Given the description of an element on the screen output the (x, y) to click on. 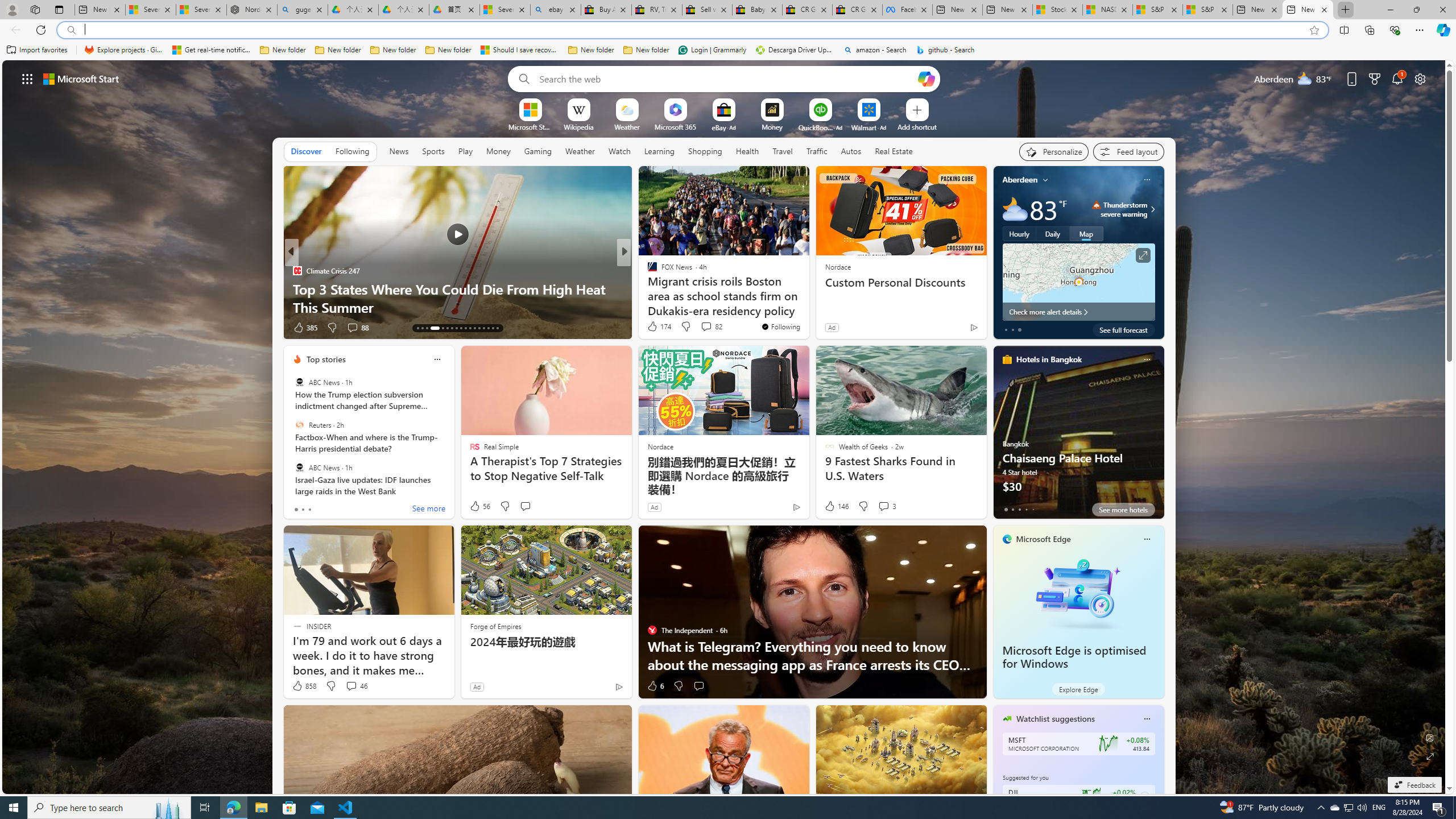
tab-1 (1012, 509)
AutomationID: tab-15 (426, 328)
View comments 7 Comment (703, 327)
Expand background (1430, 756)
Class: follow-button  m (1144, 795)
Mostly cloudy (1014, 208)
Personalize your feed" (1054, 151)
AutomationID: tab-16 (435, 328)
